Given the description of an element on the screen output the (x, y) to click on. 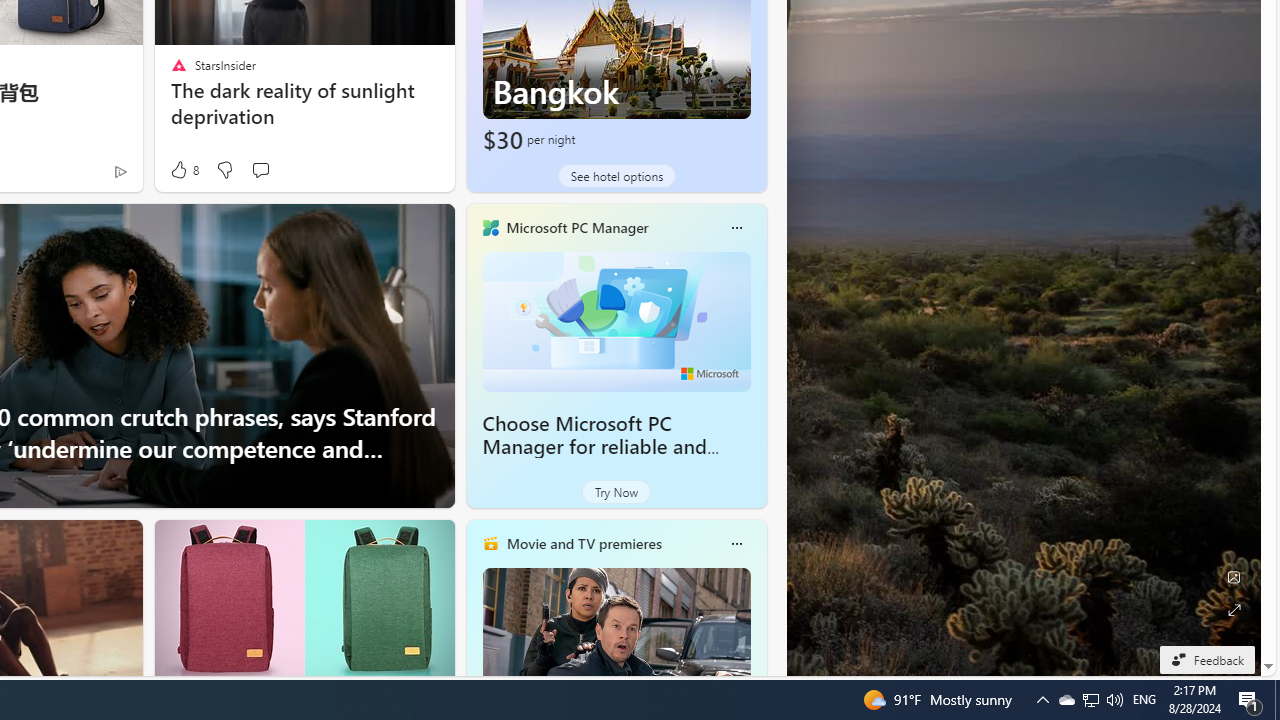
See hotel options (615, 175)
Edit Background (1233, 577)
Microsoft PC Manager (576, 227)
Dislike (224, 170)
Expand background (1233, 610)
8 Like (183, 170)
Movie and TV premieres (583, 543)
